Given the description of an element on the screen output the (x, y) to click on. 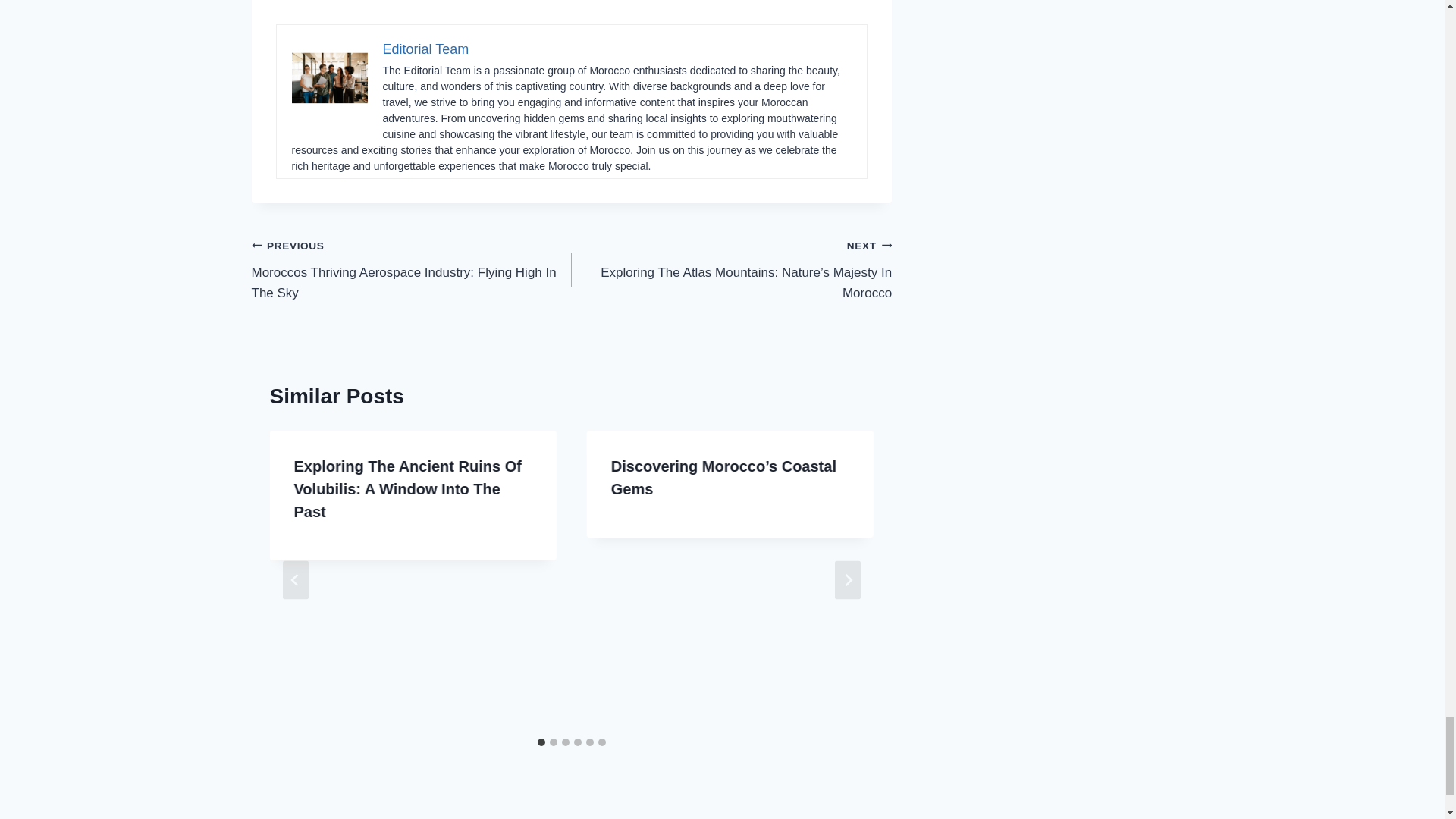
Editorial Team (424, 48)
